Given the description of an element on the screen output the (x, y) to click on. 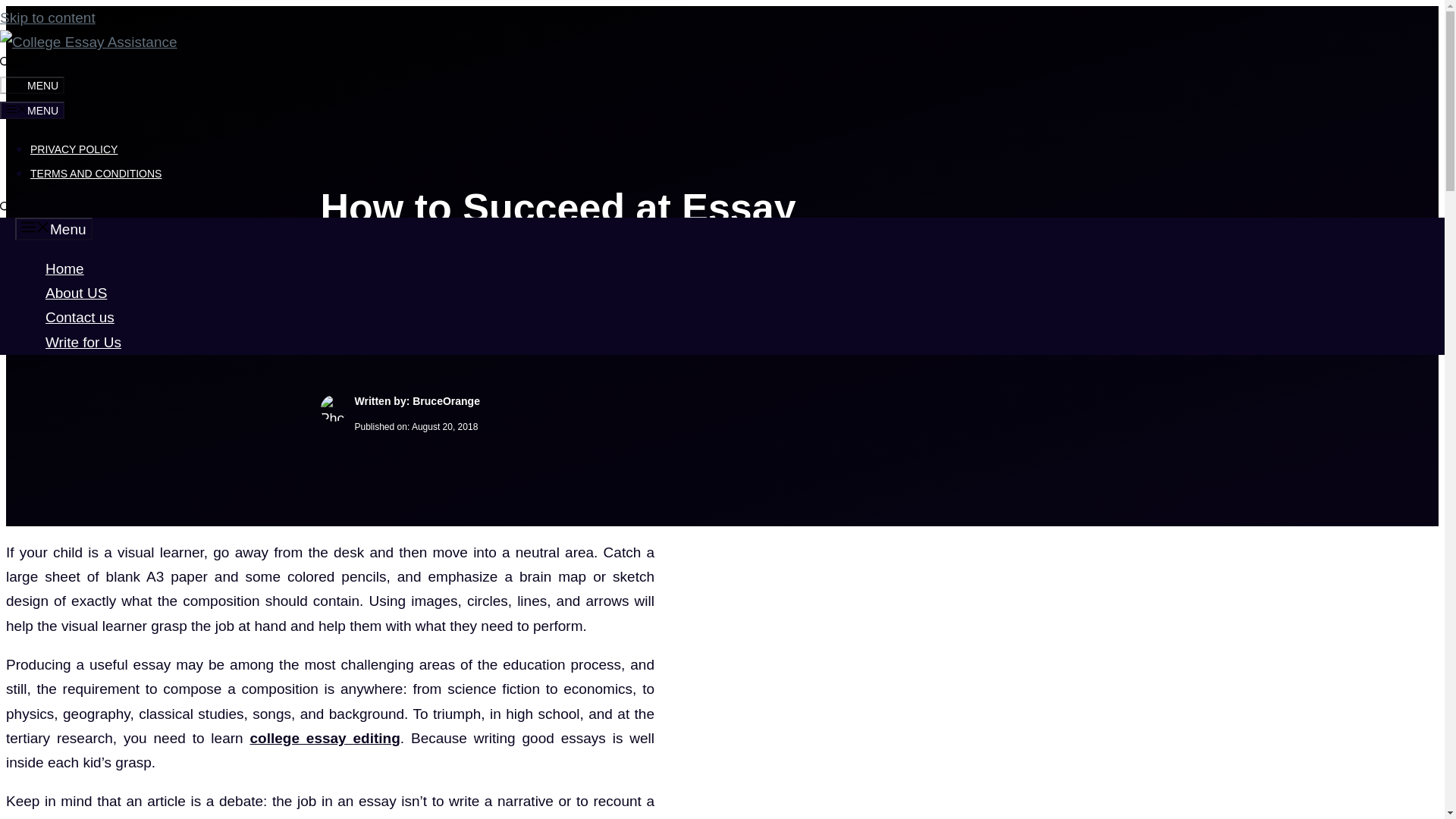
About US (75, 293)
Skip to content (48, 17)
TERMS AND CONDITIONS (95, 173)
Home (64, 268)
Write for Us (82, 342)
MENU (32, 109)
Skip to content (48, 17)
PRIVACY POLICY (73, 149)
Contact us (80, 317)
college essay editing (323, 738)
